Given the description of an element on the screen output the (x, y) to click on. 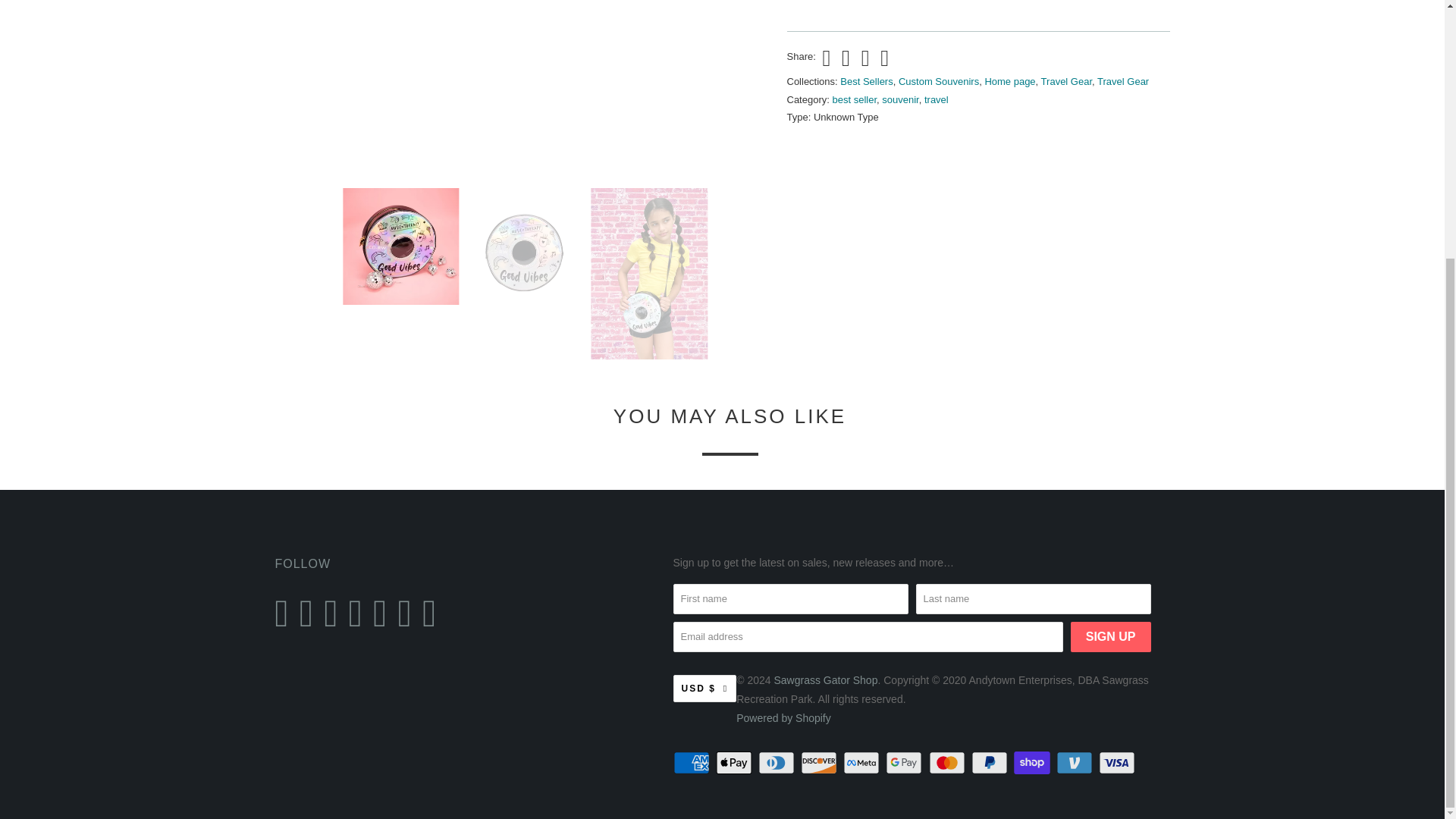
Meta Pay (862, 762)
Apple Pay (735, 762)
Google Pay (904, 762)
Sign Up (1110, 636)
American Express (692, 762)
Visa (1118, 762)
PayPal (990, 762)
Mastercard (948, 762)
Venmo (1076, 762)
Diners Club (777, 762)
